Given the description of an element on the screen output the (x, y) to click on. 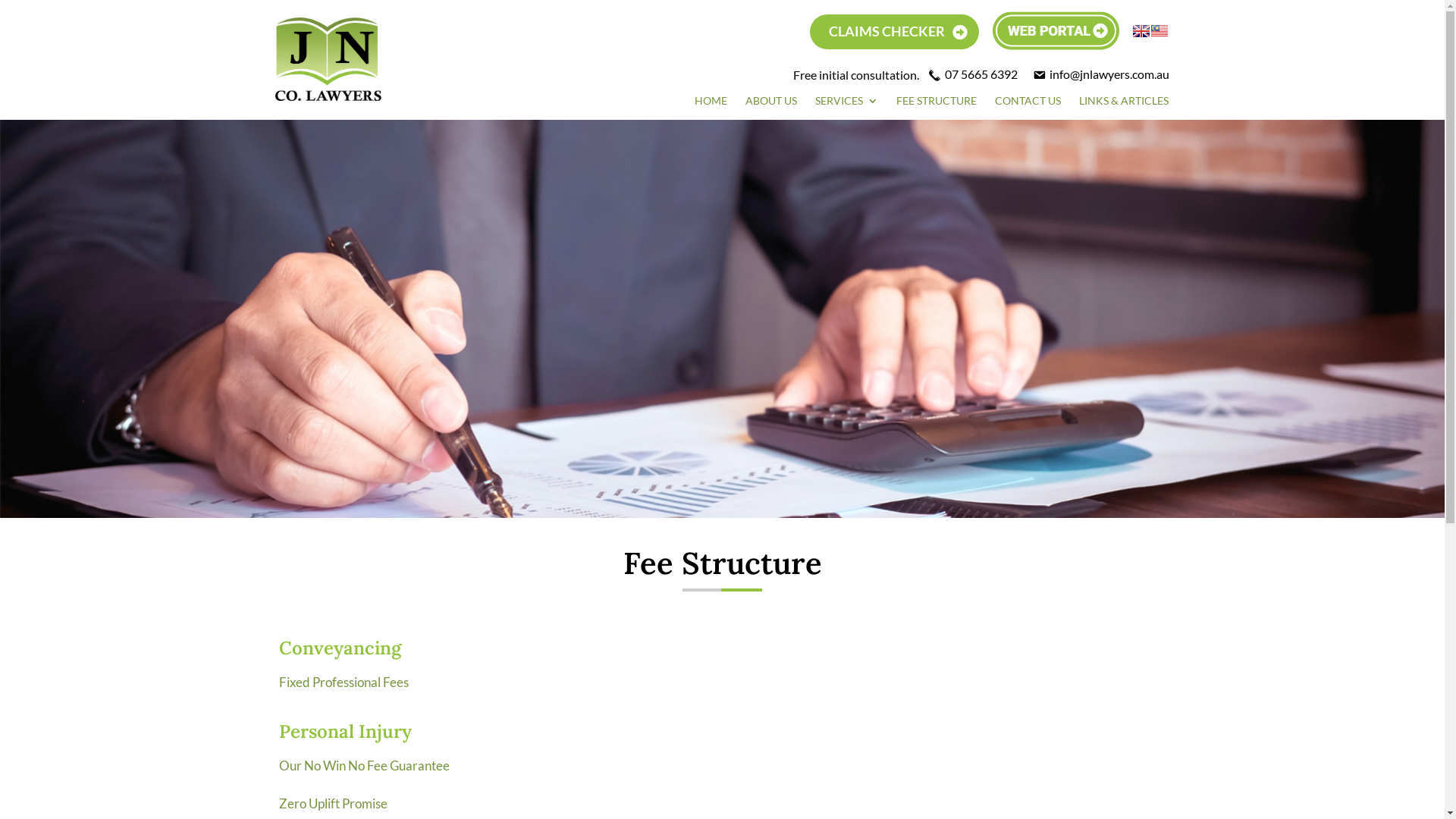
English Element type: hover (1140, 31)
Our No Win No Fee Guarantee Element type: text (364, 765)
Malay Element type: hover (1159, 31)
Fixed Professional Fees Element type: text (343, 682)
justin-nabila-lawyers-logo Element type: hover (328, 58)
07 5665 6392 Element type: text (972, 73)
CONTACT US Element type: text (1027, 103)
LINKS & ARTICLES Element type: text (1123, 103)
FEE STRUCTURE Element type: text (936, 103)
SERVICES Element type: text (846, 103)
info@jnlawyers.com.au Element type: text (1100, 73)
Zero Uplift Promise Element type: text (333, 803)
HOME Element type: text (710, 103)
ABOUT US Element type: text (771, 103)
CLAIMS CHECKER Element type: text (894, 31)
fee-structure-banner Element type: hover (722, 318)
